Given the description of an element on the screen output the (x, y) to click on. 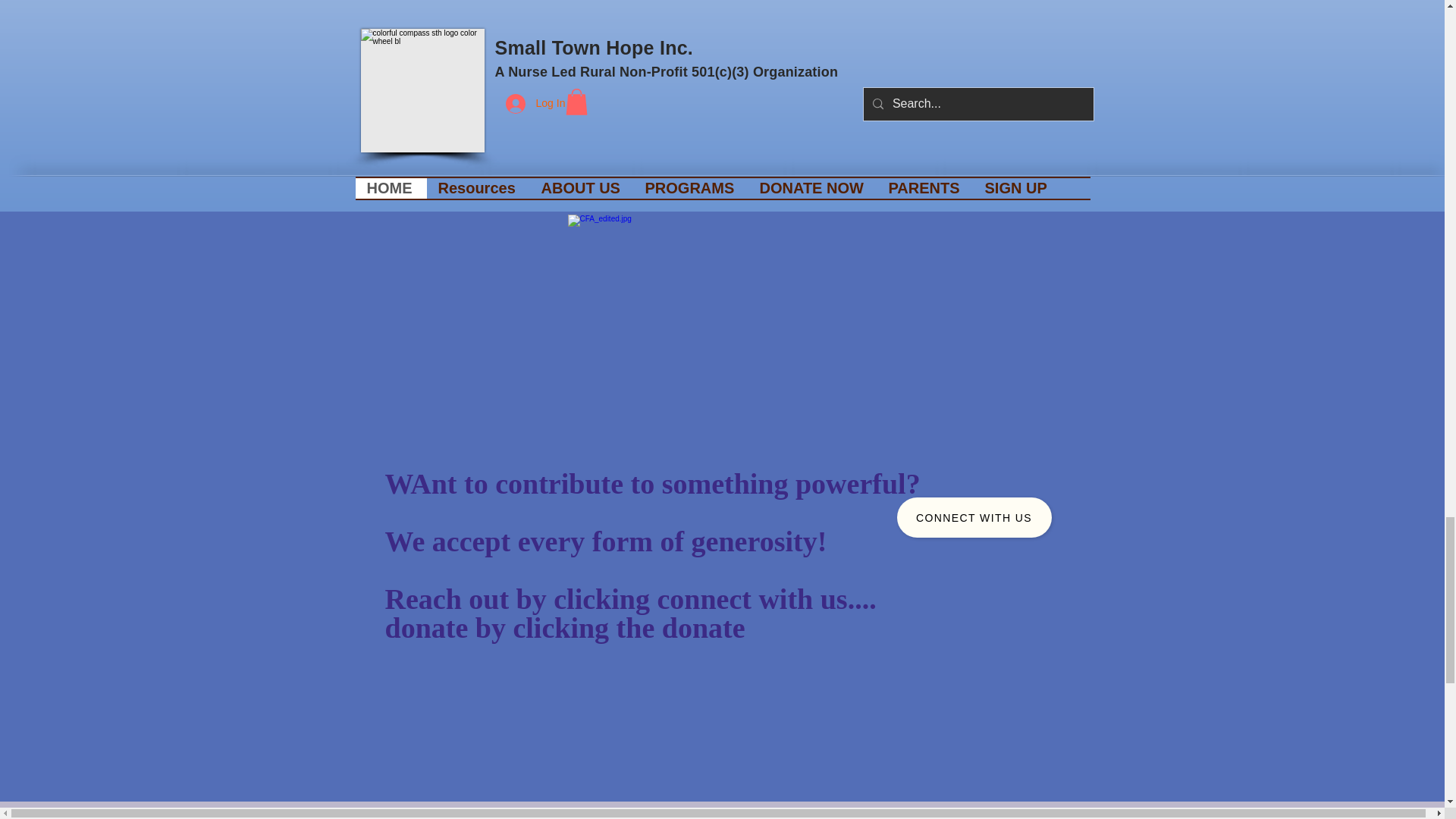
CONNECT WITH US (973, 517)
